Given the description of an element on the screen output the (x, y) to click on. 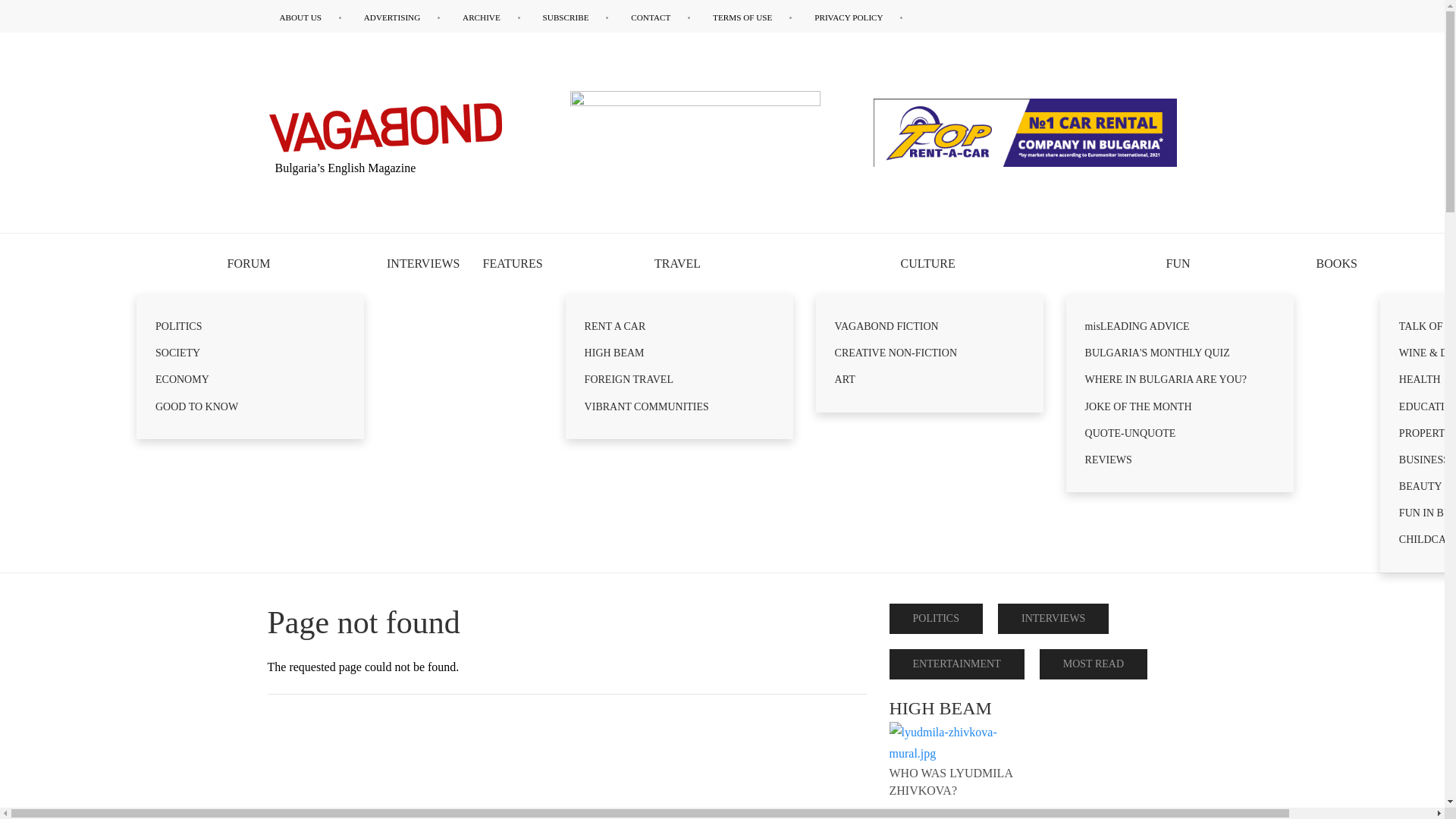
INTERVIEWS (423, 263)
ADVERTISING (401, 17)
SOCIETY (250, 352)
VIBRANT COMMUNITIES (679, 406)
WHERE IN BULGARIA ARE YOU? (1179, 379)
FUN (1179, 263)
RENT A CAR (679, 325)
misLEADING ADVICE (1179, 325)
ECONOMY (250, 379)
JOKE OF THE MONTH (1179, 406)
INTERVIEWS (423, 263)
FORUM (250, 263)
CONTACT (660, 17)
VAGABOND FICTION (929, 325)
toprentacar (1024, 131)
